Given the description of an element on the screen output the (x, y) to click on. 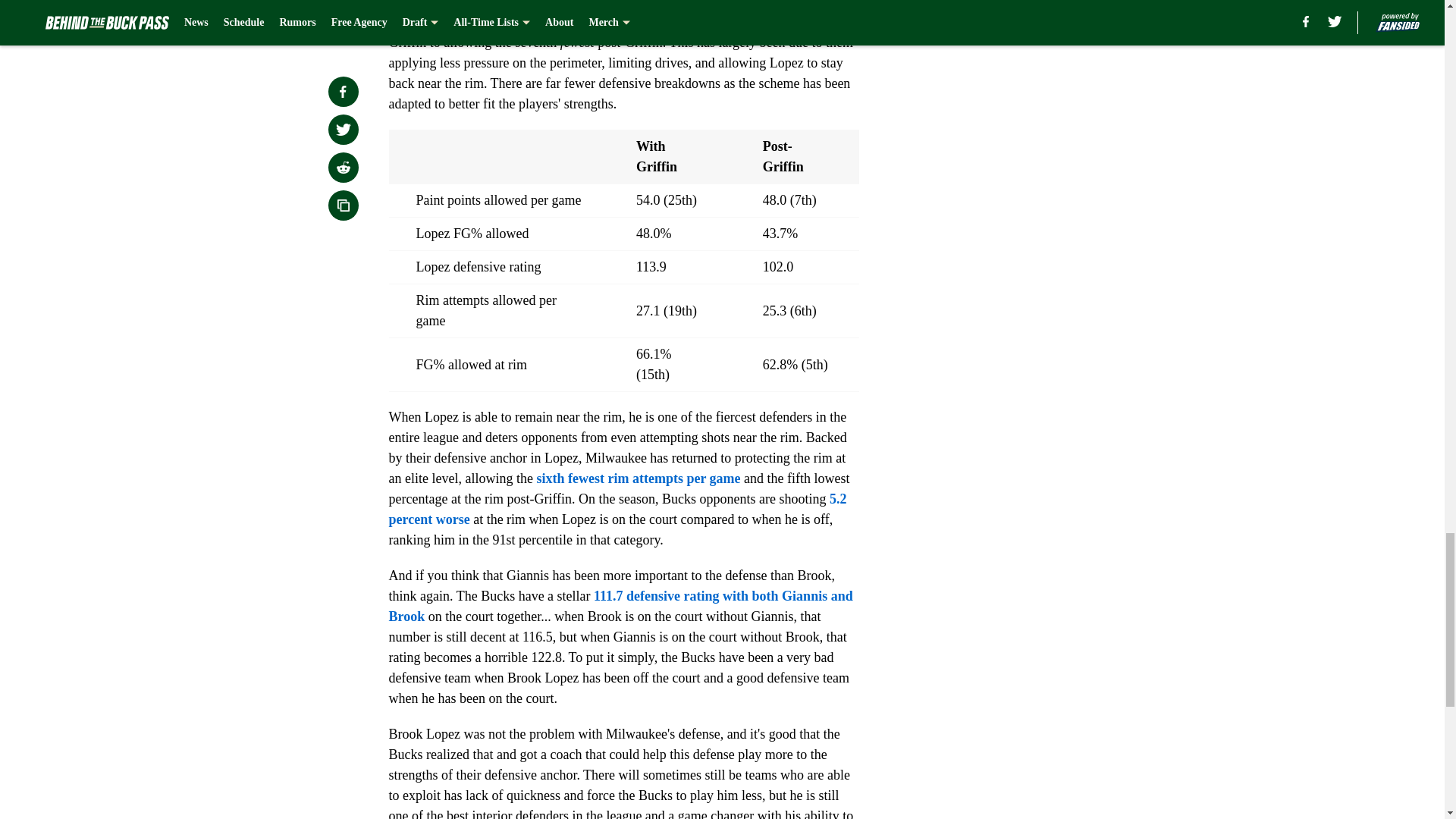
5.2 percent worse (616, 509)
sixth fewest rim attempts per game (637, 478)
111.7 defensive rating with both Giannis and Brook (619, 606)
